Given the description of an element on the screen output the (x, y) to click on. 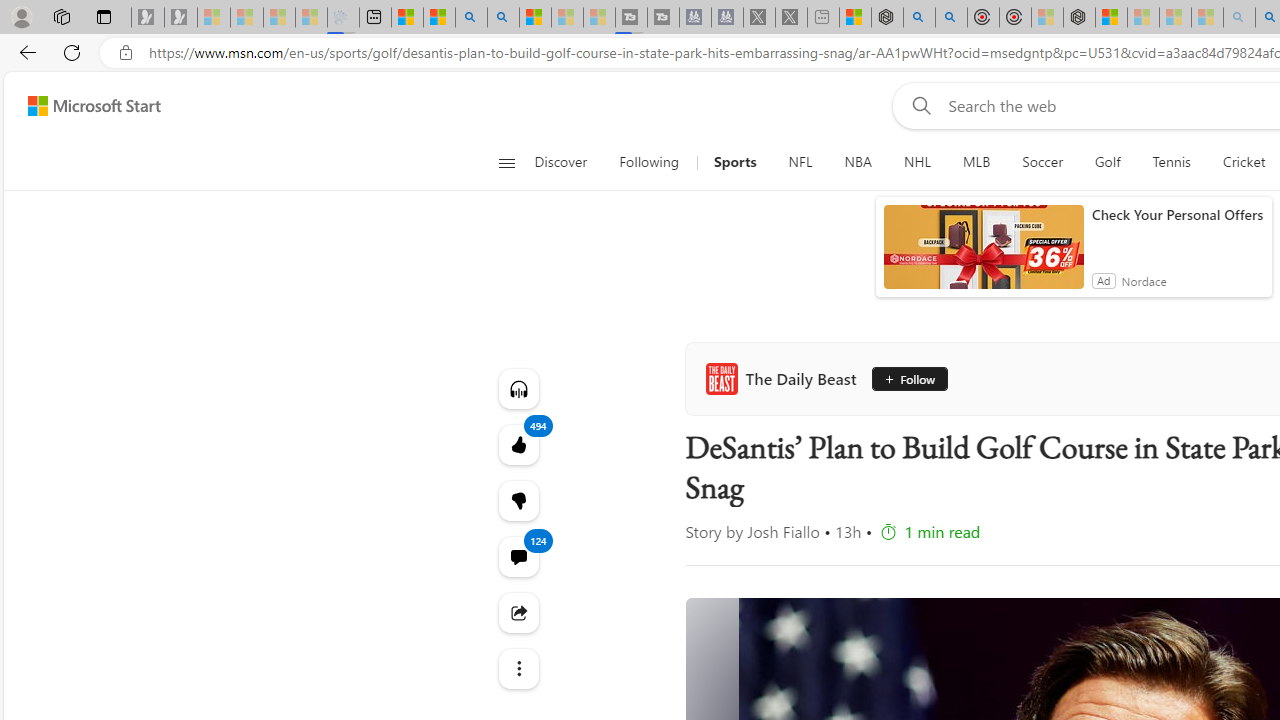
The Daily Beast (785, 378)
See more (517, 668)
Newsletter Sign Up - Sleeping (181, 17)
Soccer (1041, 162)
MLB (976, 162)
NFL (800, 162)
Nordace - Summer Adventures 2024 (886, 17)
NBA (857, 162)
Listen to this article (517, 388)
Dislike (517, 500)
494 Like (517, 444)
Skip to content (86, 105)
Class: button-glyph (505, 162)
